Given the description of an element on the screen output the (x, y) to click on. 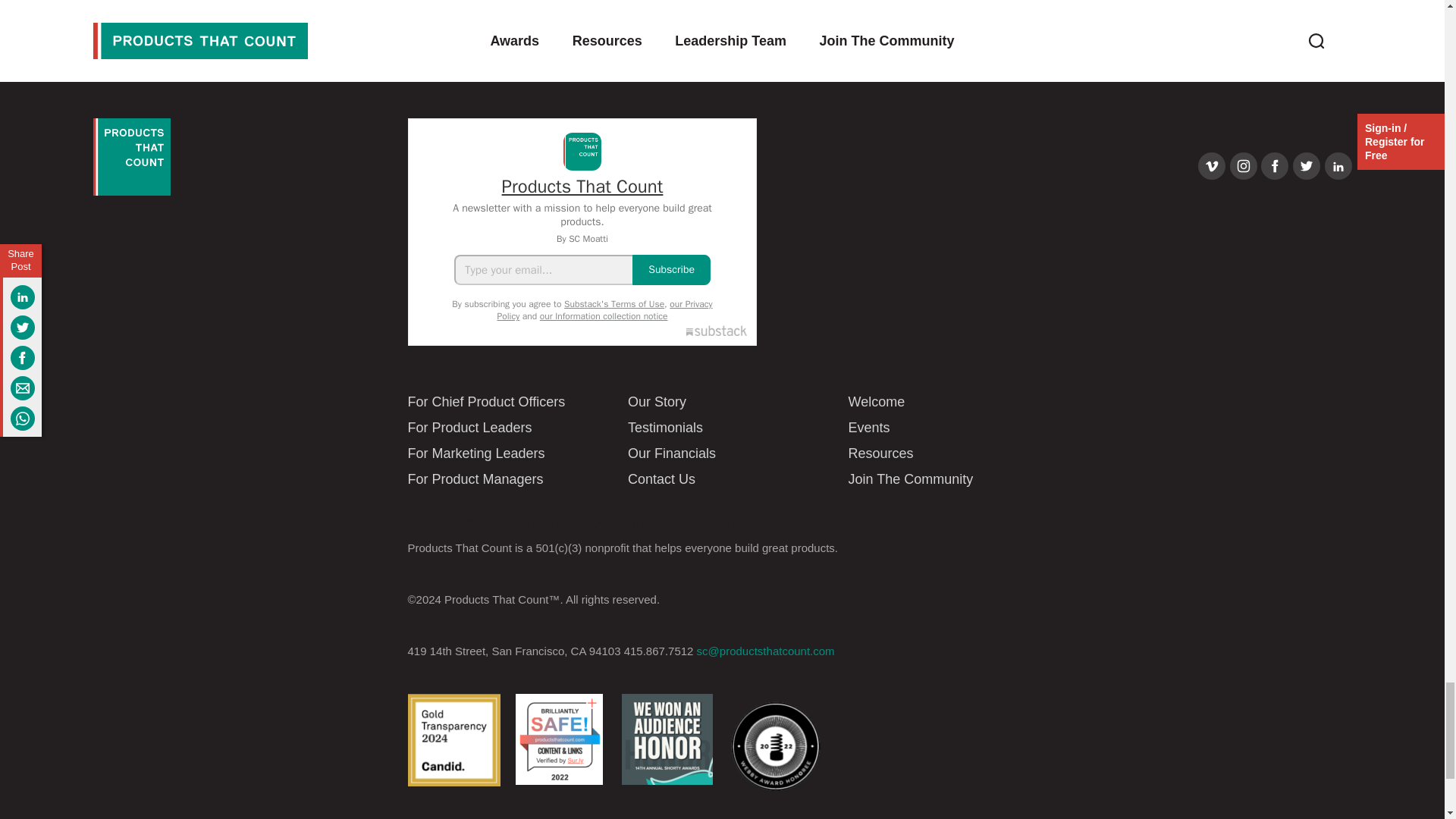
Site Badges bw webby honoree (775, 746)
Sur ly badge (558, 738)
Gold Star (453, 739)
AudienceHonor Square (667, 738)
